Given the description of an element on the screen output the (x, y) to click on. 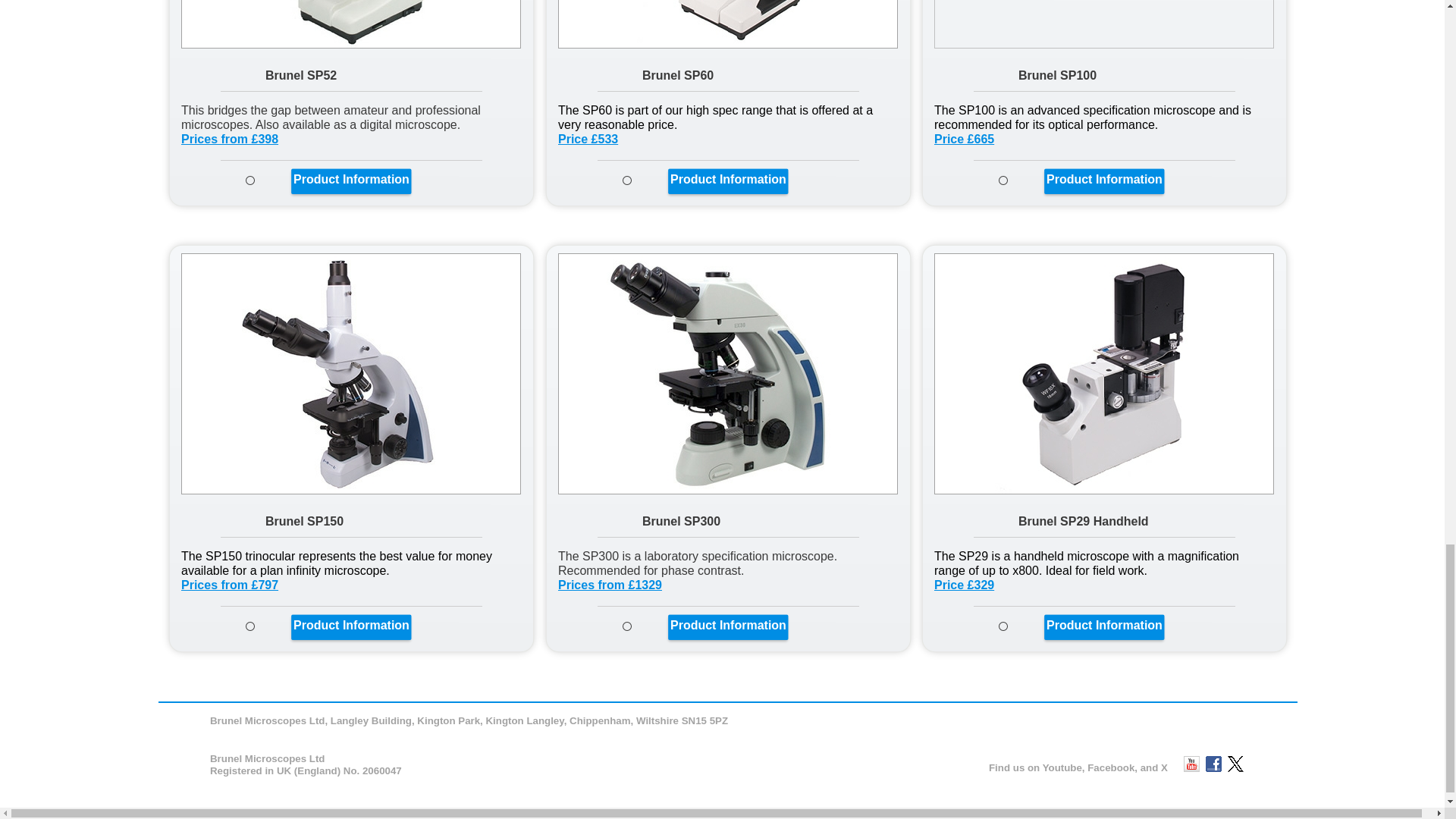
Product Information (1103, 625)
Product Information (351, 178)
Product Information (351, 625)
Product Information (727, 178)
Product Information (1103, 178)
Product Information (727, 625)
